Given the description of an element on the screen output the (x, y) to click on. 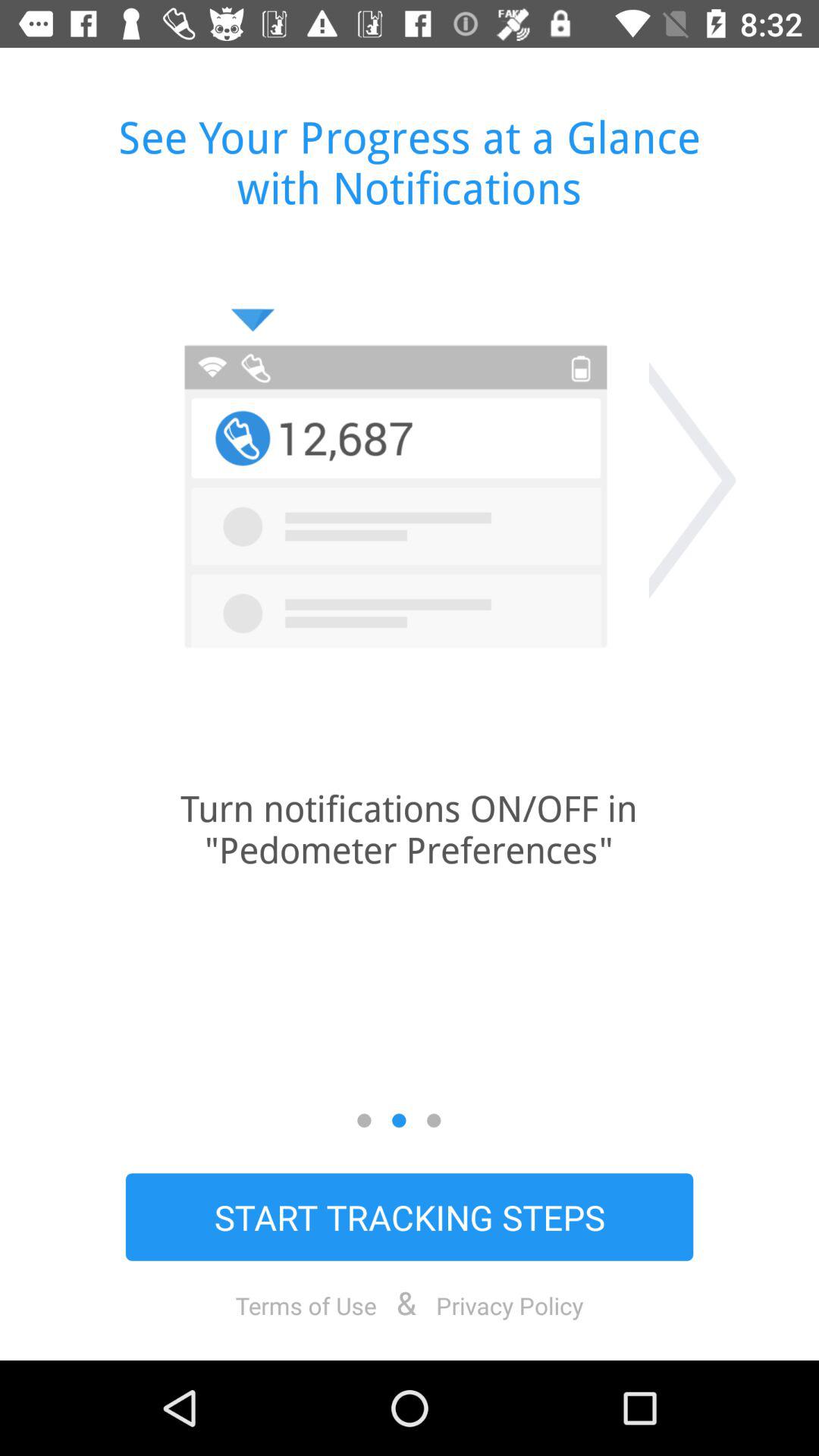
turn off start tracking steps (409, 1217)
